Given the description of an element on the screen output the (x, y) to click on. 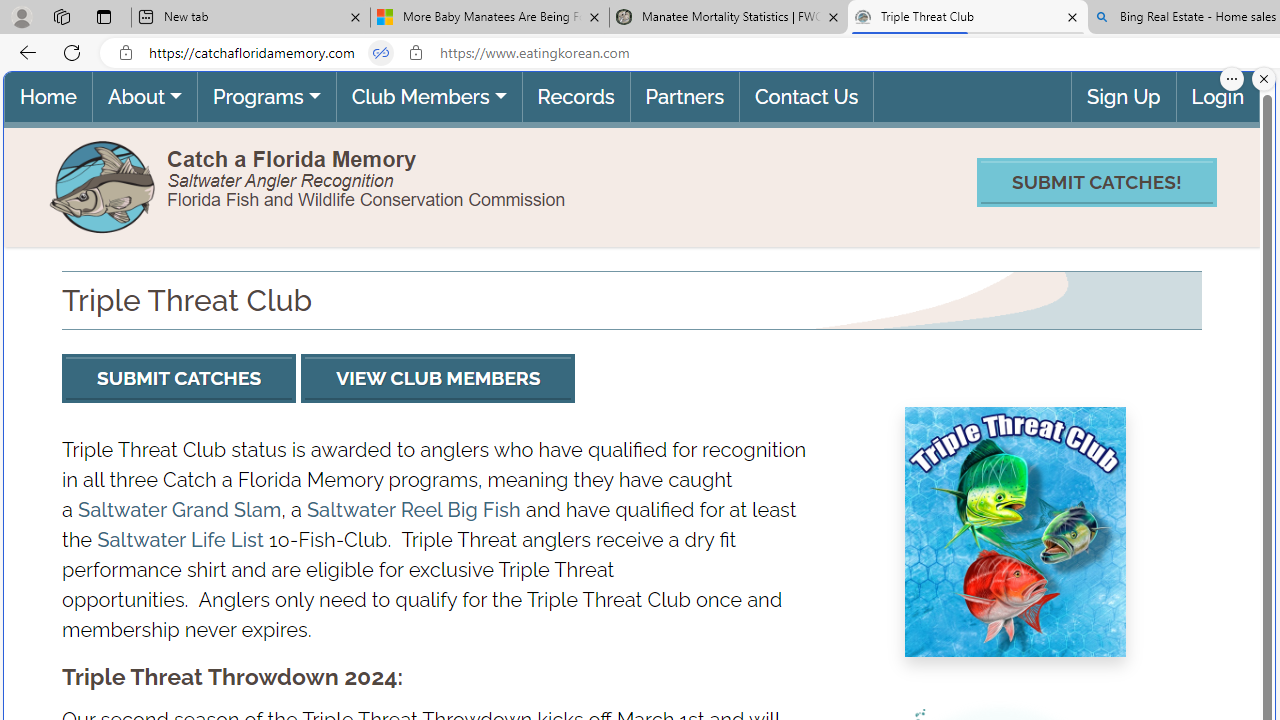
Programs (266, 96)
Catch A Florida Memory Logo (104, 183)
View site information (415, 53)
Sign Up (1123, 96)
Workspaces (61, 16)
Home(current) (47, 96)
About (144, 96)
Saltwater Grand Slam (179, 509)
Refresh (72, 52)
Close tab (1072, 16)
Programs (266, 96)
Home (current) (47, 96)
Login (1217, 96)
Manatee Mortality Statistics | FWC (729, 17)
